Given the description of an element on the screen output the (x, y) to click on. 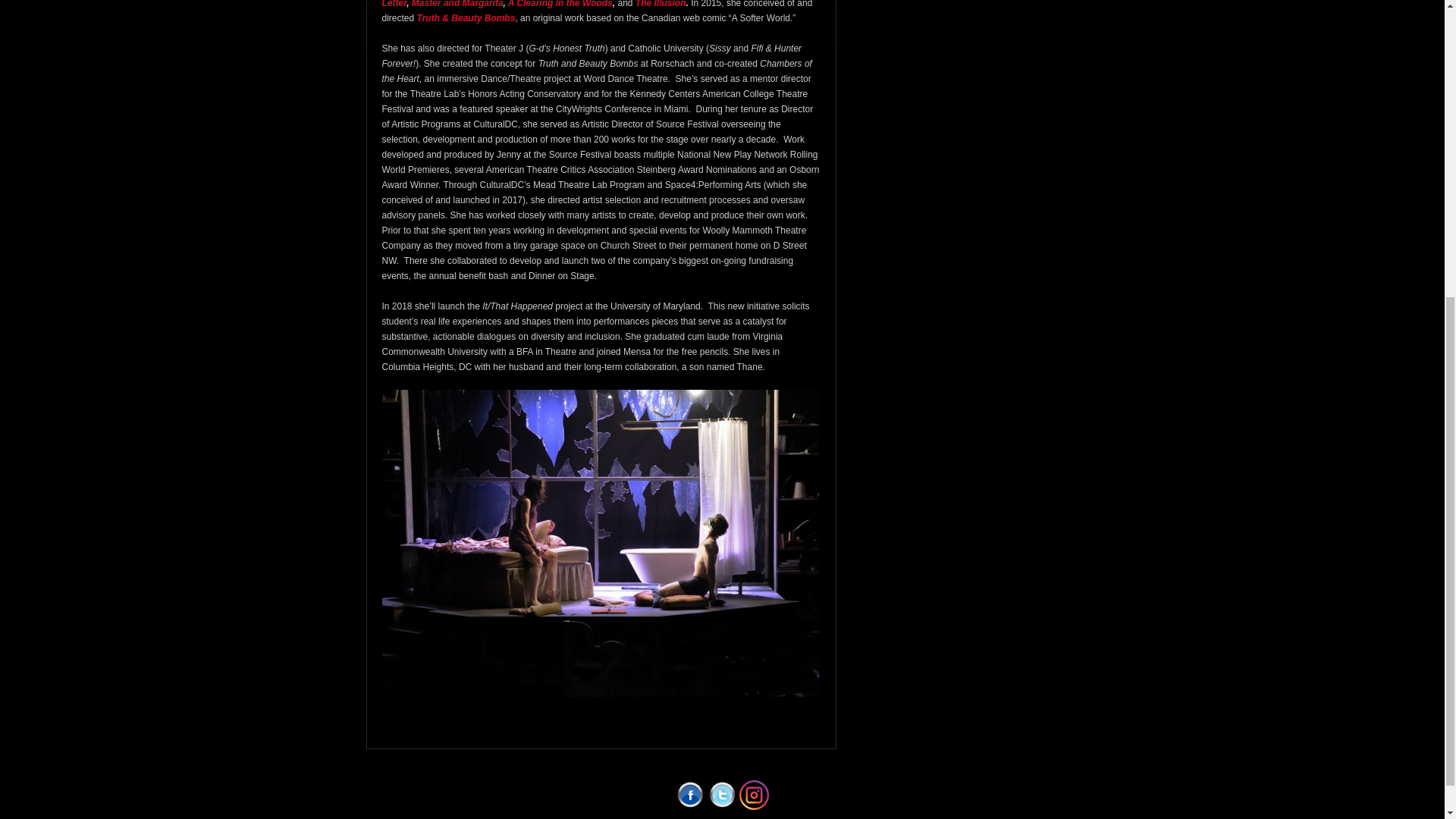
visit our twitter page (721, 794)
visit our facebook page (689, 794)
visit our instagram (753, 794)
